Given the description of an element on the screen output the (x, y) to click on. 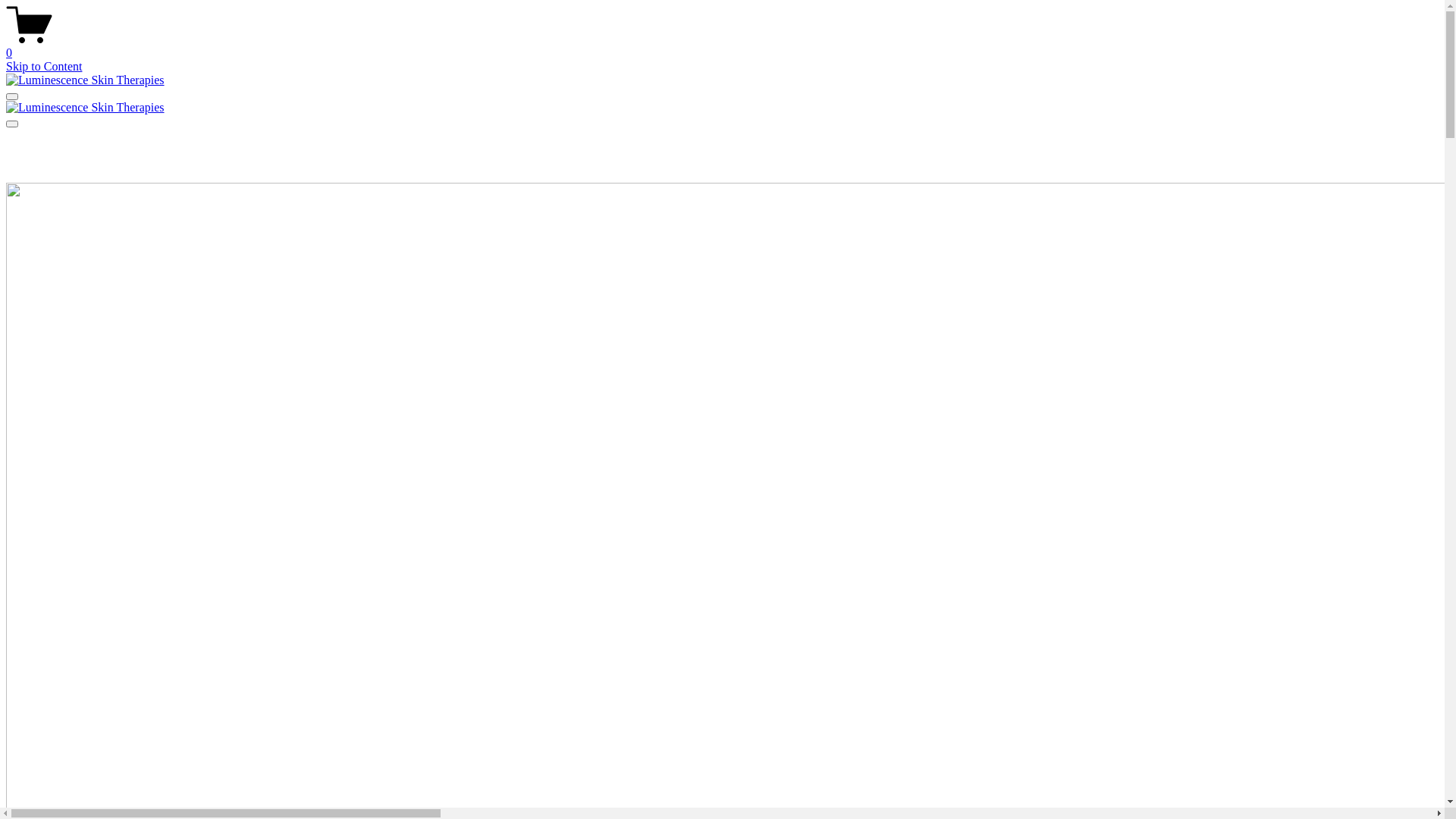
Skip to Content Element type: text (43, 65)
0 Element type: text (722, 45)
